Given the description of an element on the screen output the (x, y) to click on. 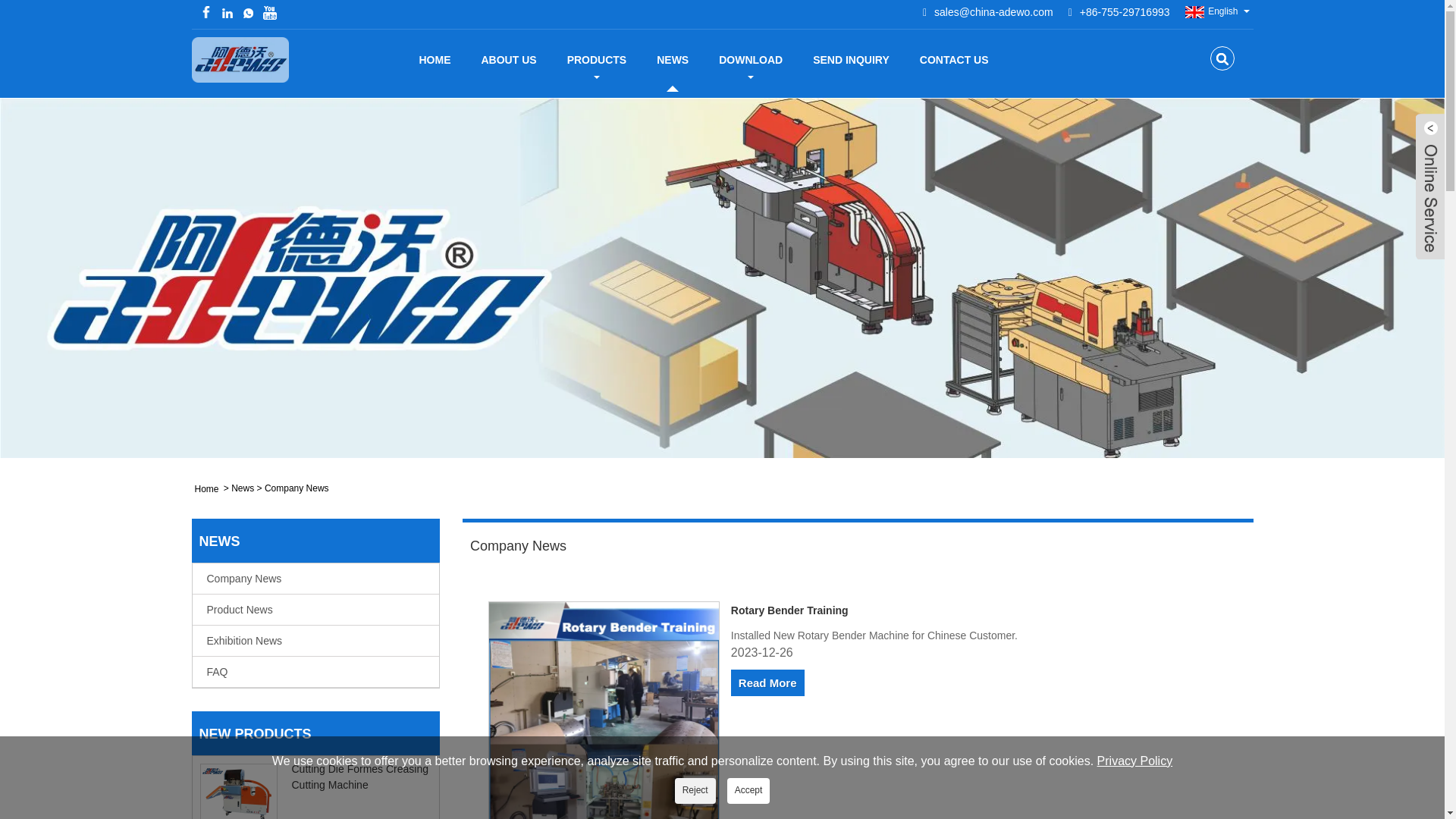
English (1209, 10)
English (1209, 10)
